Given the description of an element on the screen output the (x, y) to click on. 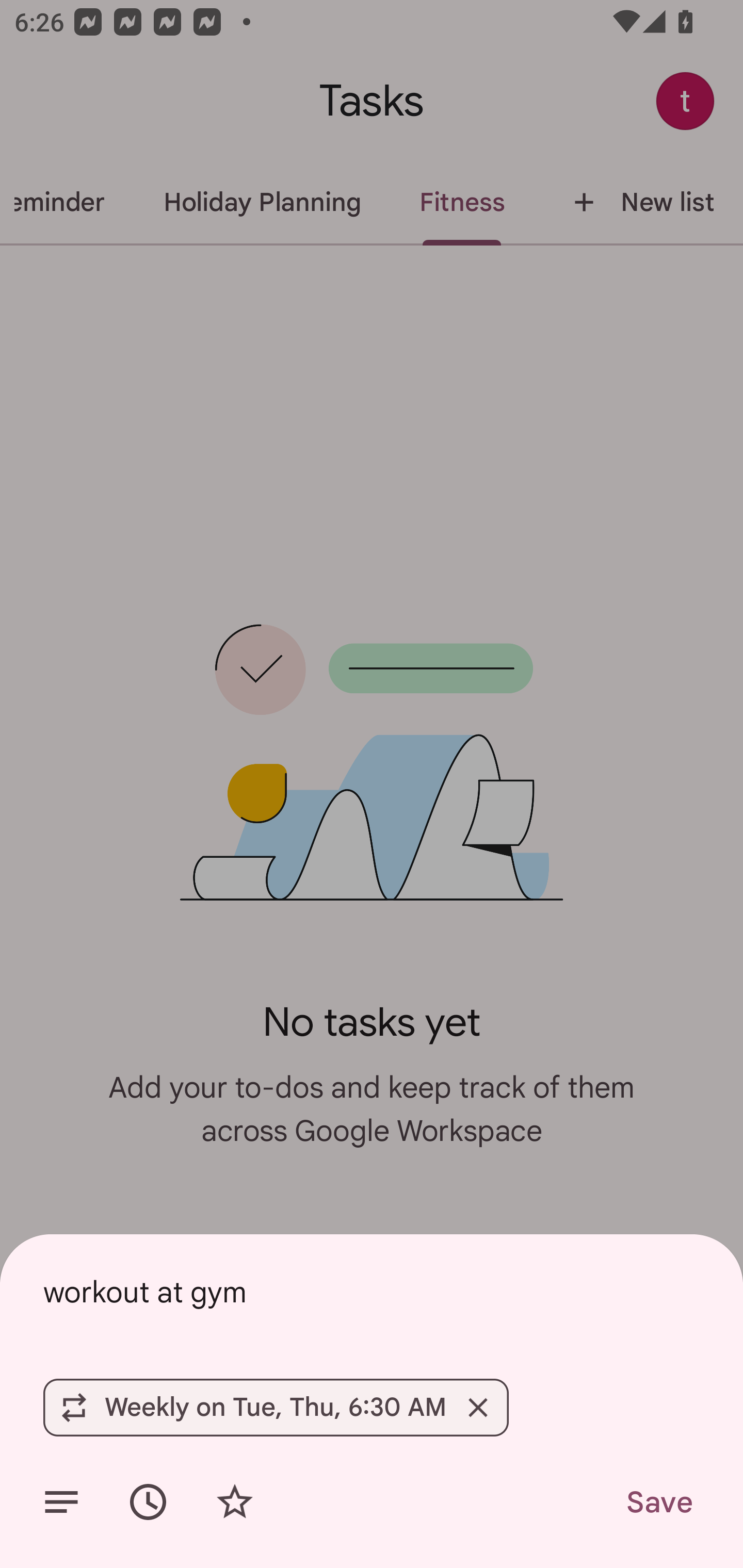
workout at gym (371, 1291)
Save (659, 1501)
Add details (60, 1501)
Set date/time (147, 1501)
Add star (234, 1501)
